Given the description of an element on the screen output the (x, y) to click on. 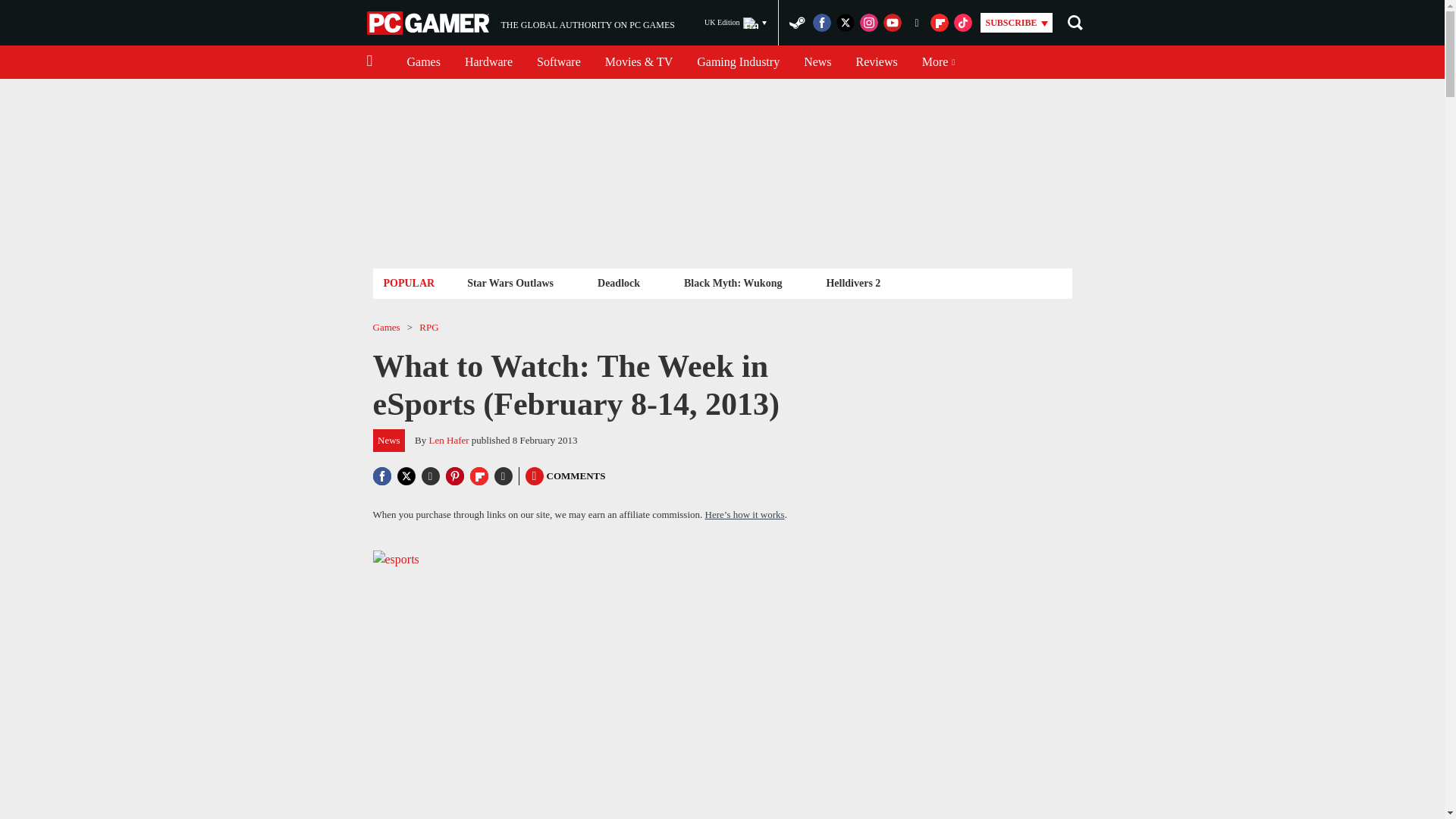
PC Gamer (429, 22)
Games (422, 61)
News (817, 61)
Software (558, 61)
Deadlock (618, 282)
Star Wars Outlaws (510, 282)
UK Edition (735, 22)
Reviews (877, 61)
Hardware (488, 61)
Gaming Industry (738, 61)
